Given the description of an element on the screen output the (x, y) to click on. 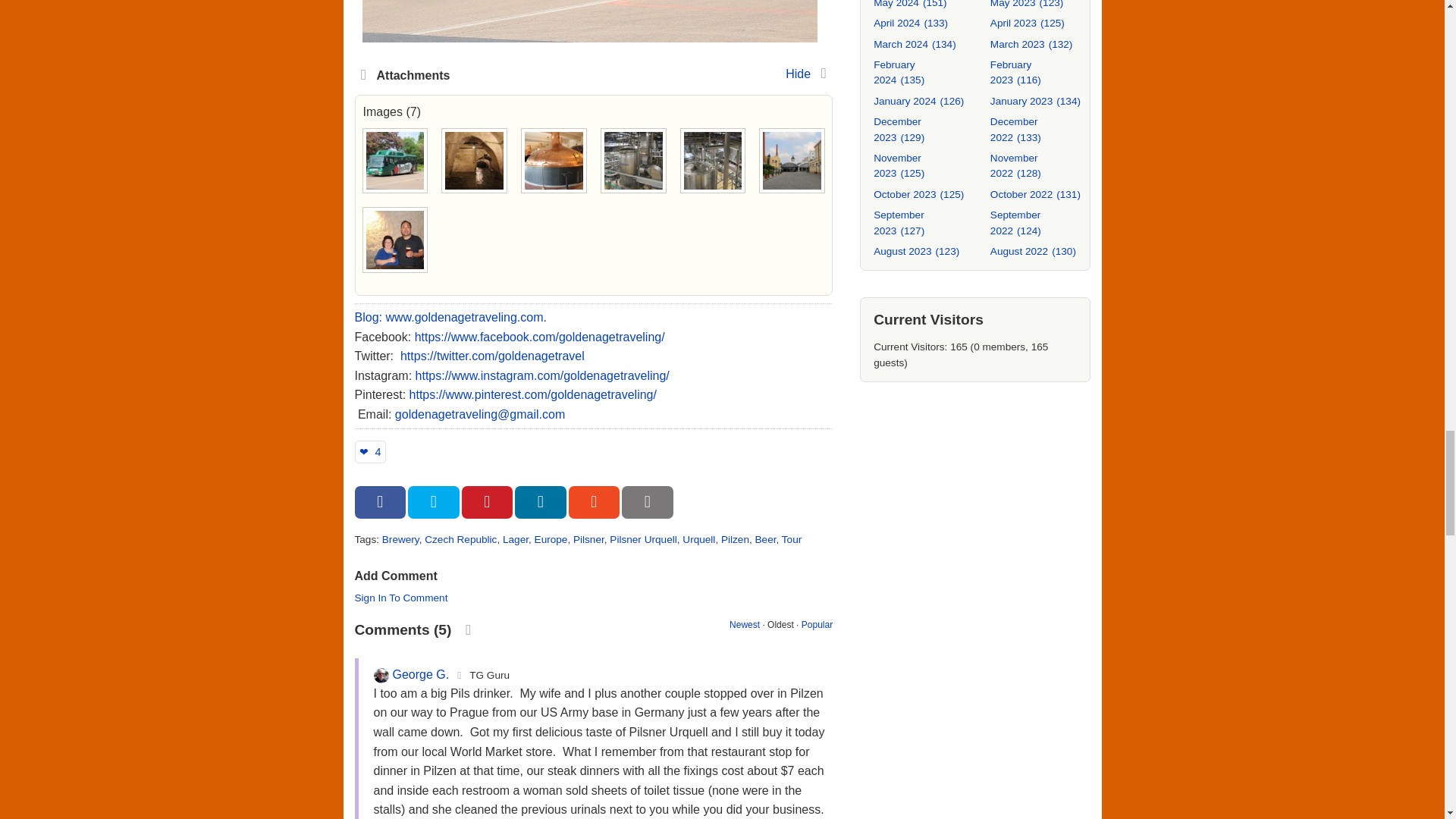
Pilsner - Front (792, 160)
Pilsner - Kettles 1 (553, 160)
Pilsner - Celler (474, 160)
Pilsner - Bus (394, 160)
Pilsner - Bottles 1 (713, 160)
Pilsner - Bus (589, 21)
Pilsner - Bottles 2 (633, 160)
